Given the description of an element on the screen output the (x, y) to click on. 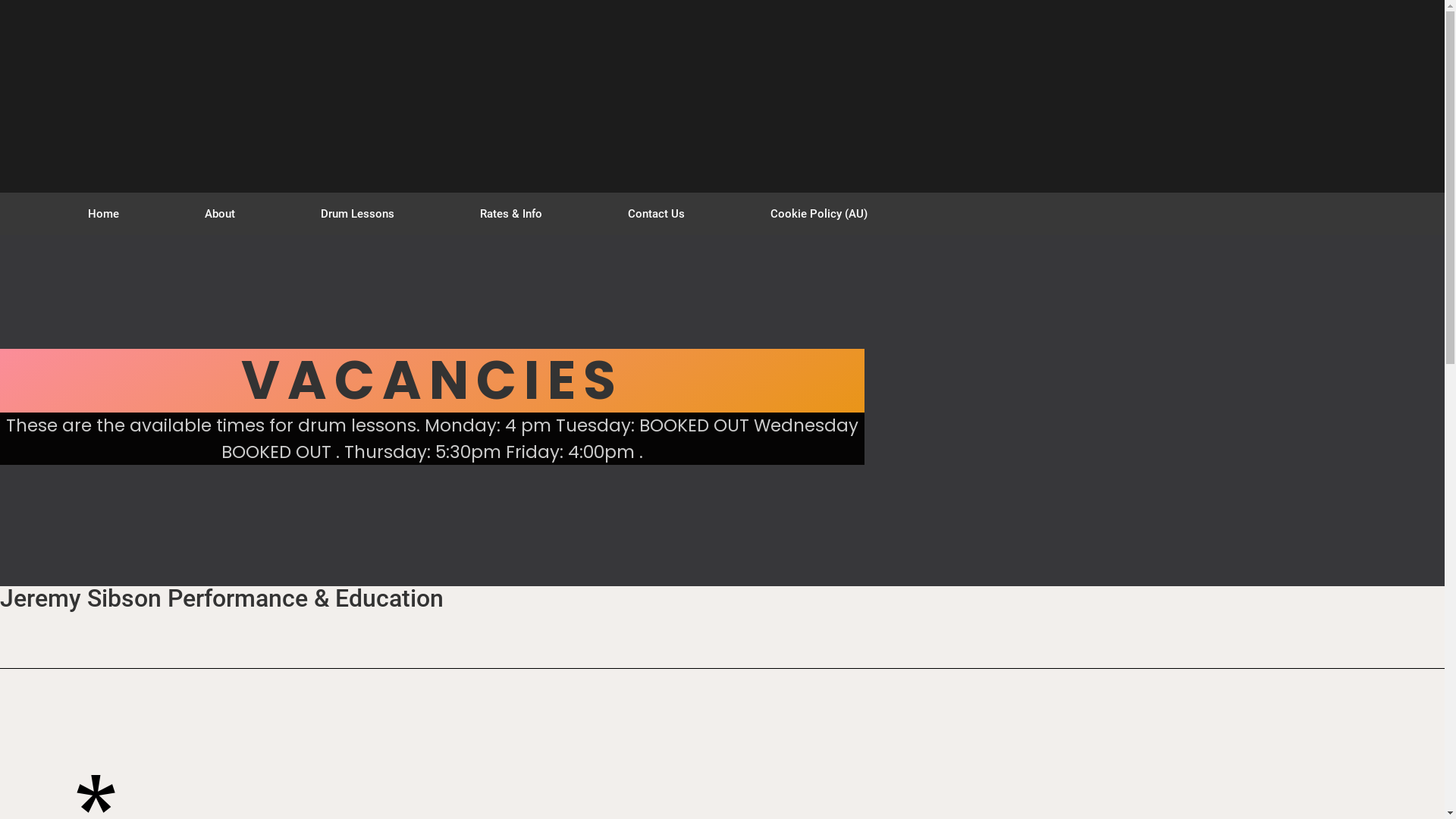
About Element type: text (220, 213)
Cookie Policy (AU) Element type: text (818, 213)
Contact Us Element type: text (655, 213)
Drum Lessons Element type: text (357, 213)
Jeremy Sibson Performance & Education Element type: text (221, 597)
Home Element type: text (103, 213)
Skip to content Element type: text (0, 0)
Rates & Info Element type: text (510, 213)
